Given the description of an element on the screen output the (x, y) to click on. 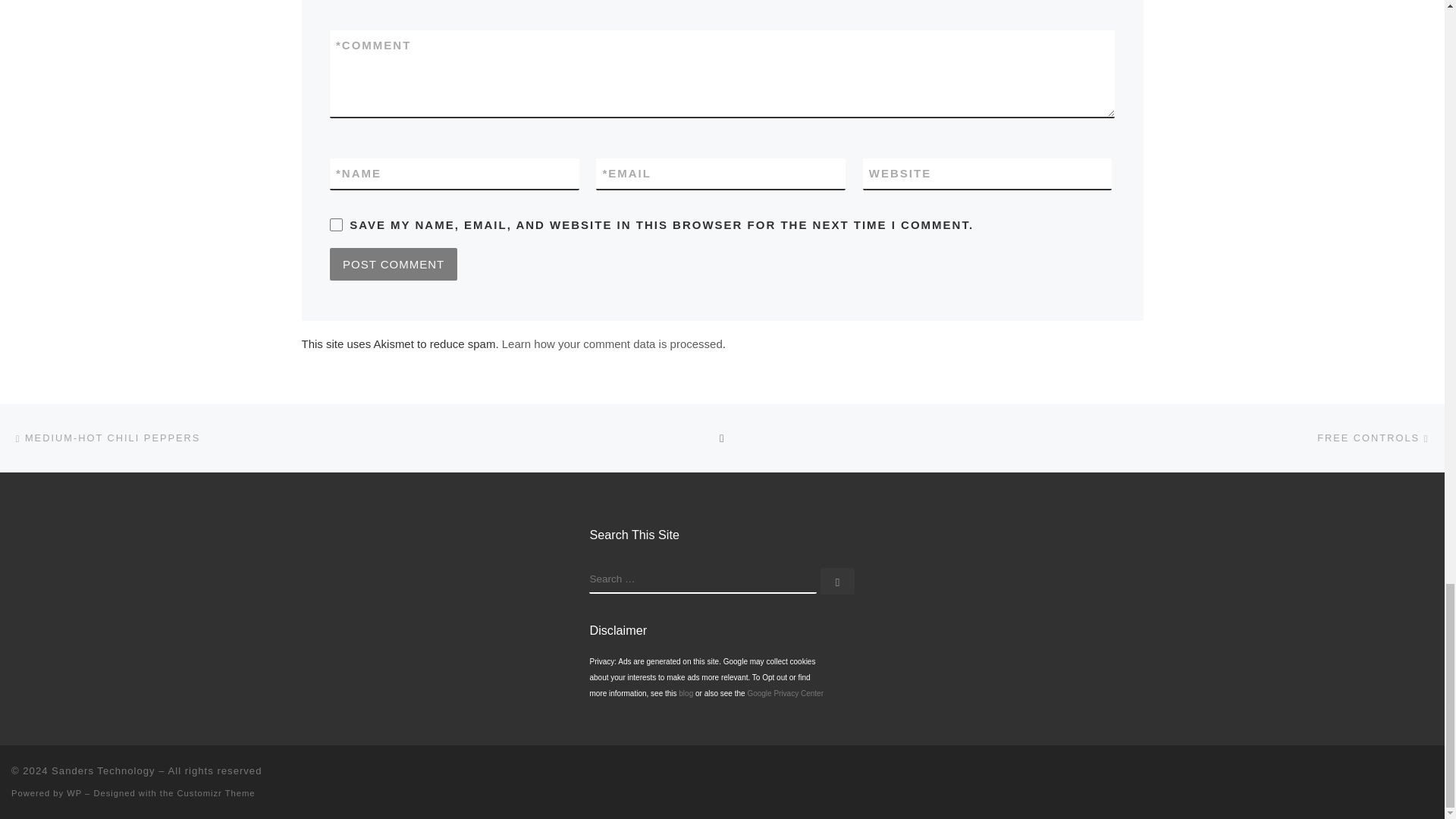
yes (336, 224)
Post Comment (393, 264)
